Given the description of an element on the screen output the (x, y) to click on. 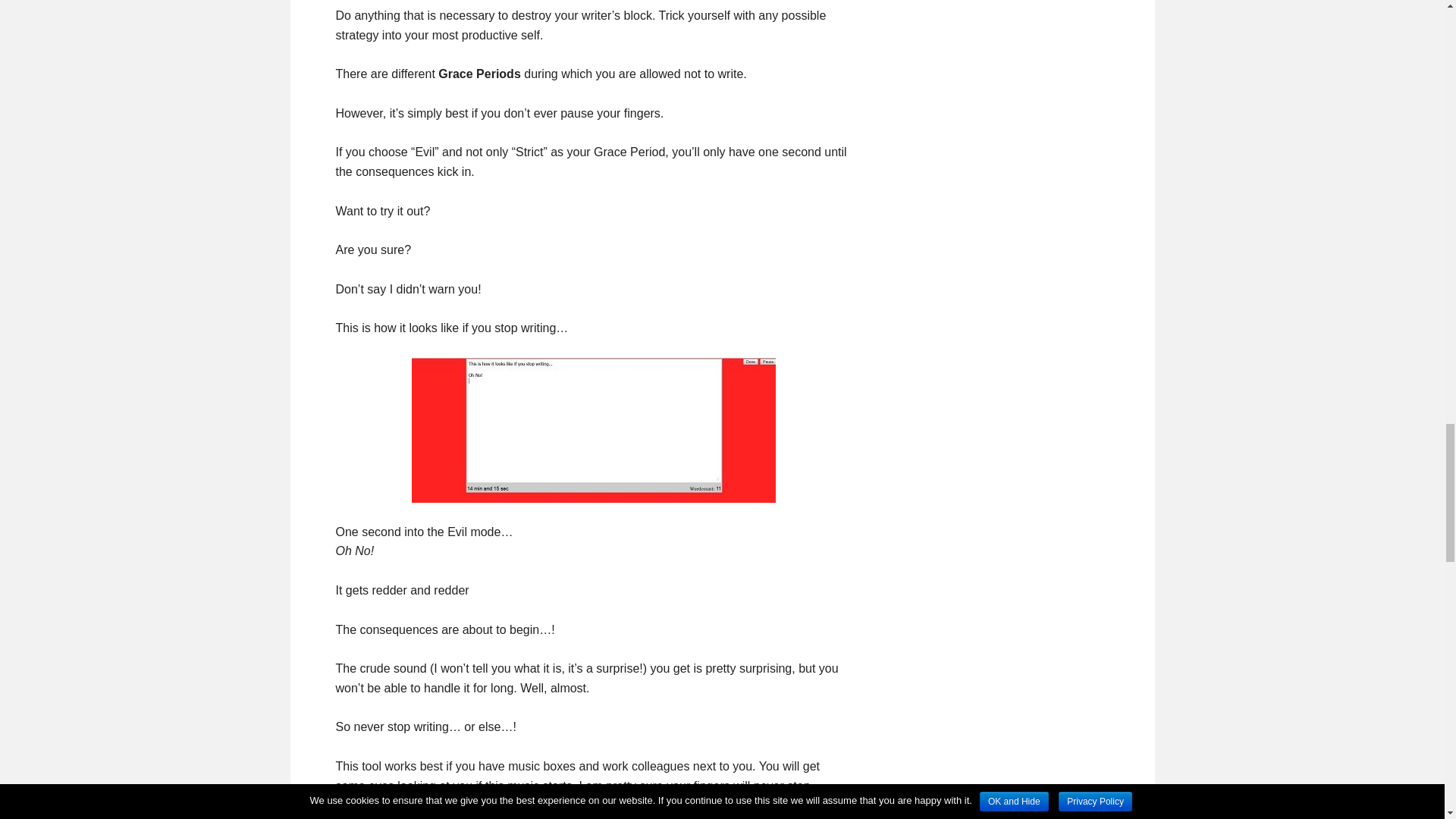
How it looks when you stop writing! (592, 429)
